Given the description of an element on the screen output the (x, y) to click on. 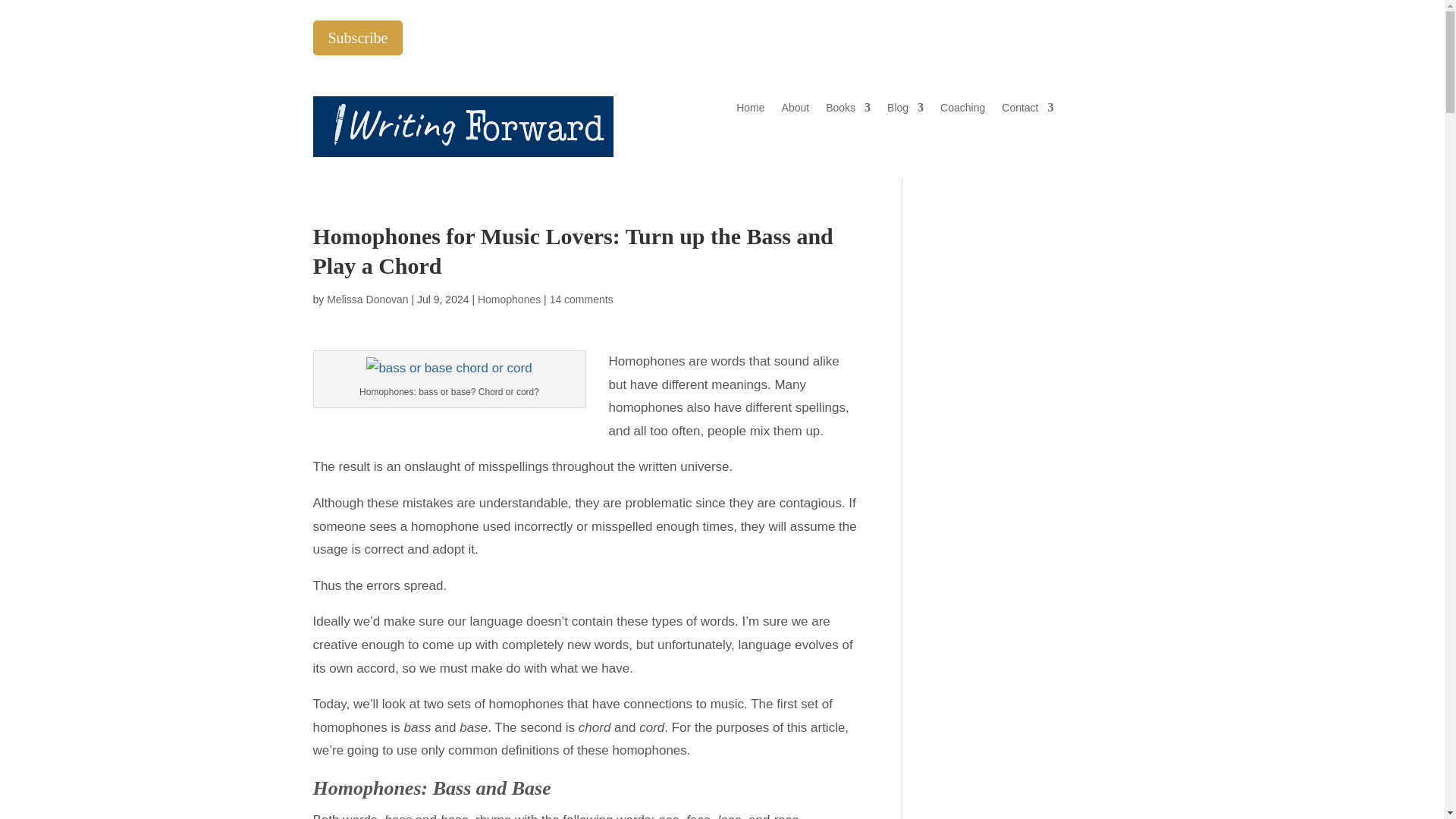
Blog (904, 110)
About (795, 110)
logo-writing-forward-2019 (462, 126)
Melissa Donovan (366, 299)
Coaching (962, 110)
Follow on Facebook (1028, 32)
Follow on X (1058, 32)
Contact (1026, 110)
Books (847, 110)
Subscribe (358, 37)
